Given the description of an element on the screen output the (x, y) to click on. 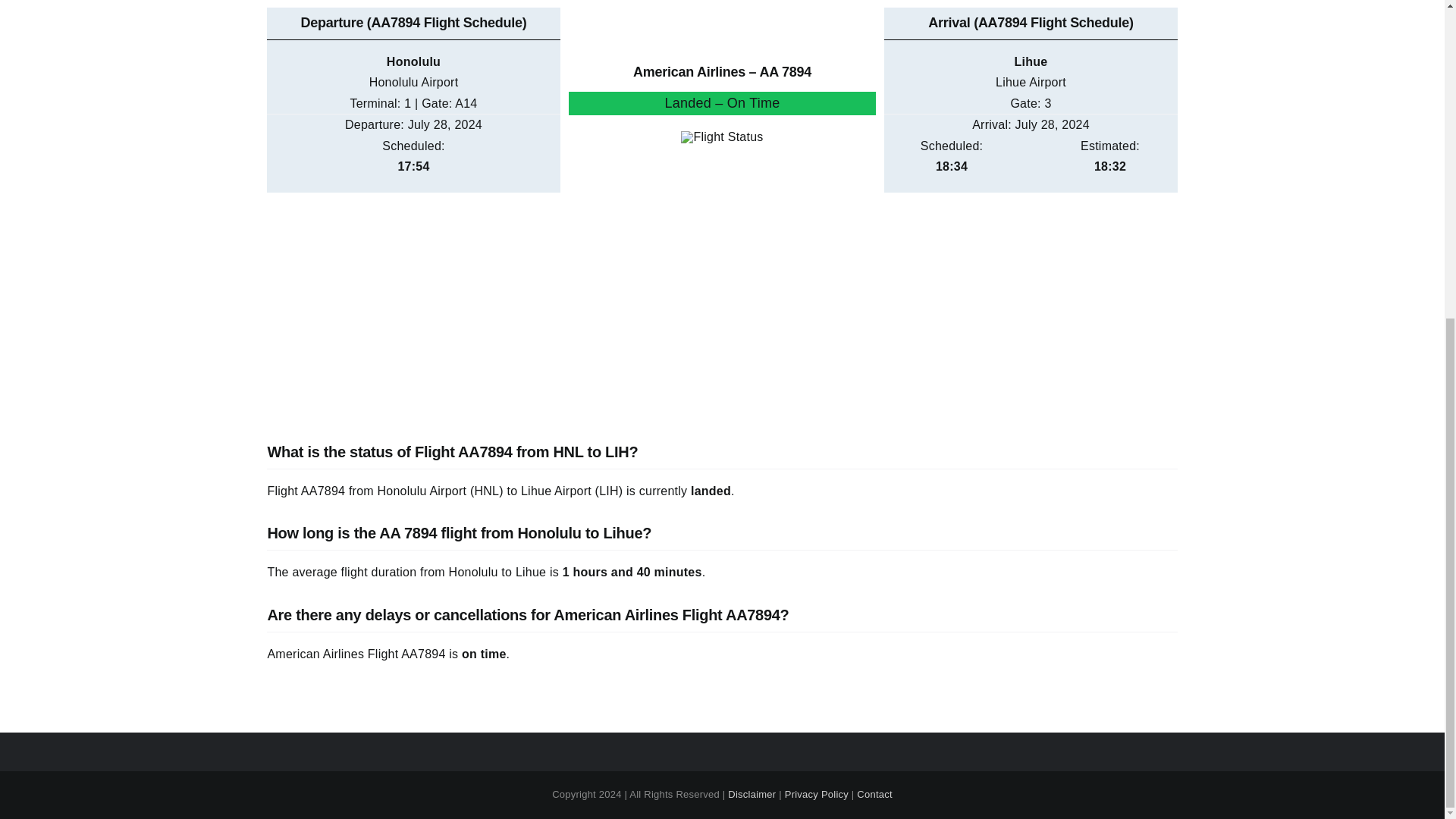
Privacy Policy (816, 794)
Contact (874, 794)
Disclaimer (752, 794)
